Given the description of an element on the screen output the (x, y) to click on. 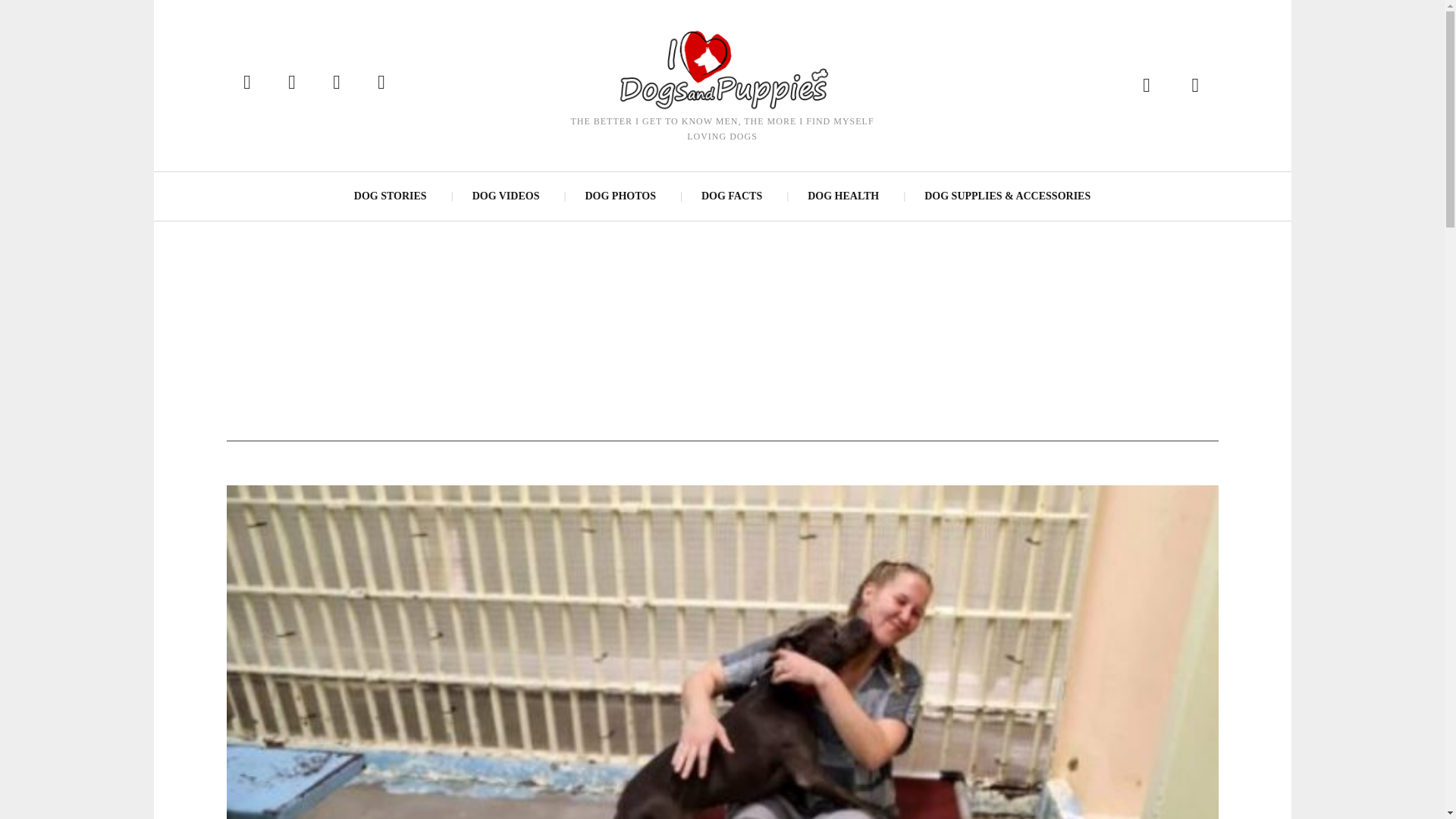
DOG VIDEOS (505, 195)
DOG FACTS (731, 195)
ILoveDogsAndPuppies (721, 68)
DOG HEALTH (842, 195)
DOG PHOTOS (619, 195)
DOG STORIES (390, 195)
